Given the description of an element on the screen output the (x, y) to click on. 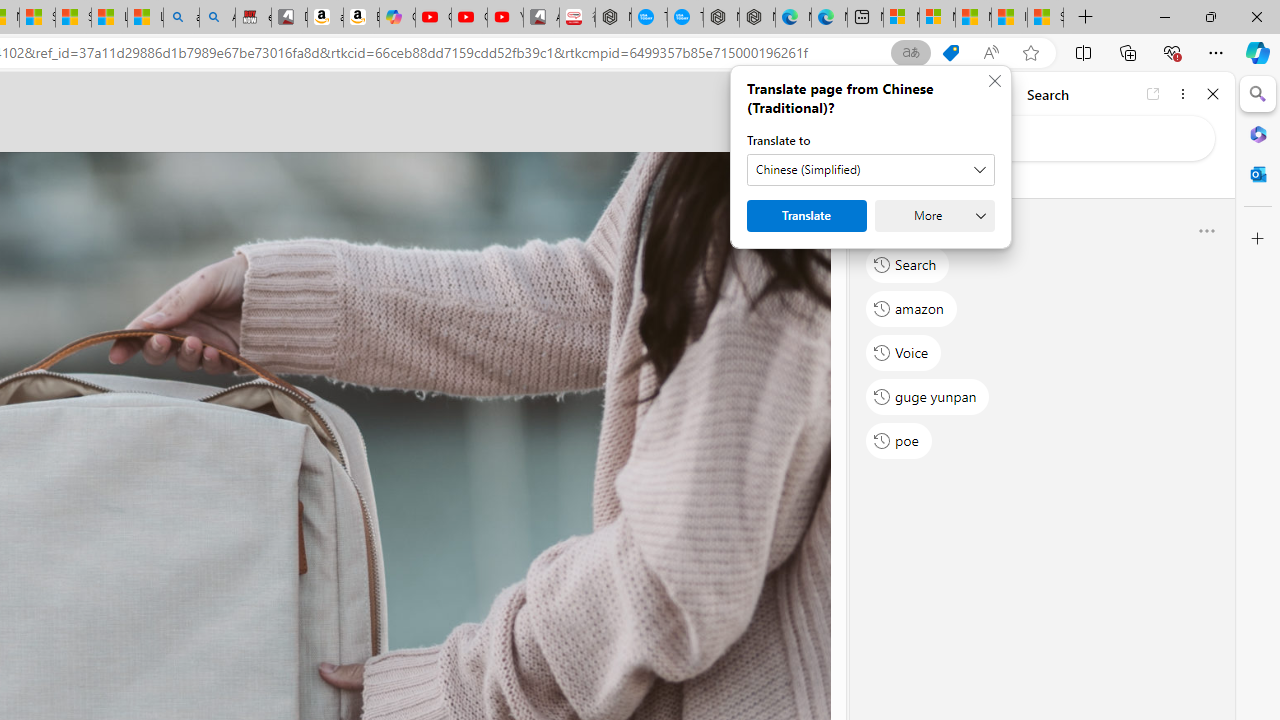
Search the web (1051, 137)
Microsoft 365 (1258, 133)
Voice (904, 352)
Web scope (882, 180)
Nordace - My Account (613, 17)
poe (898, 441)
Microsoft account | Privacy (937, 17)
YouTube Kids - An App Created for Kids to Explore Content (505, 17)
